Given the description of an element on the screen output the (x, y) to click on. 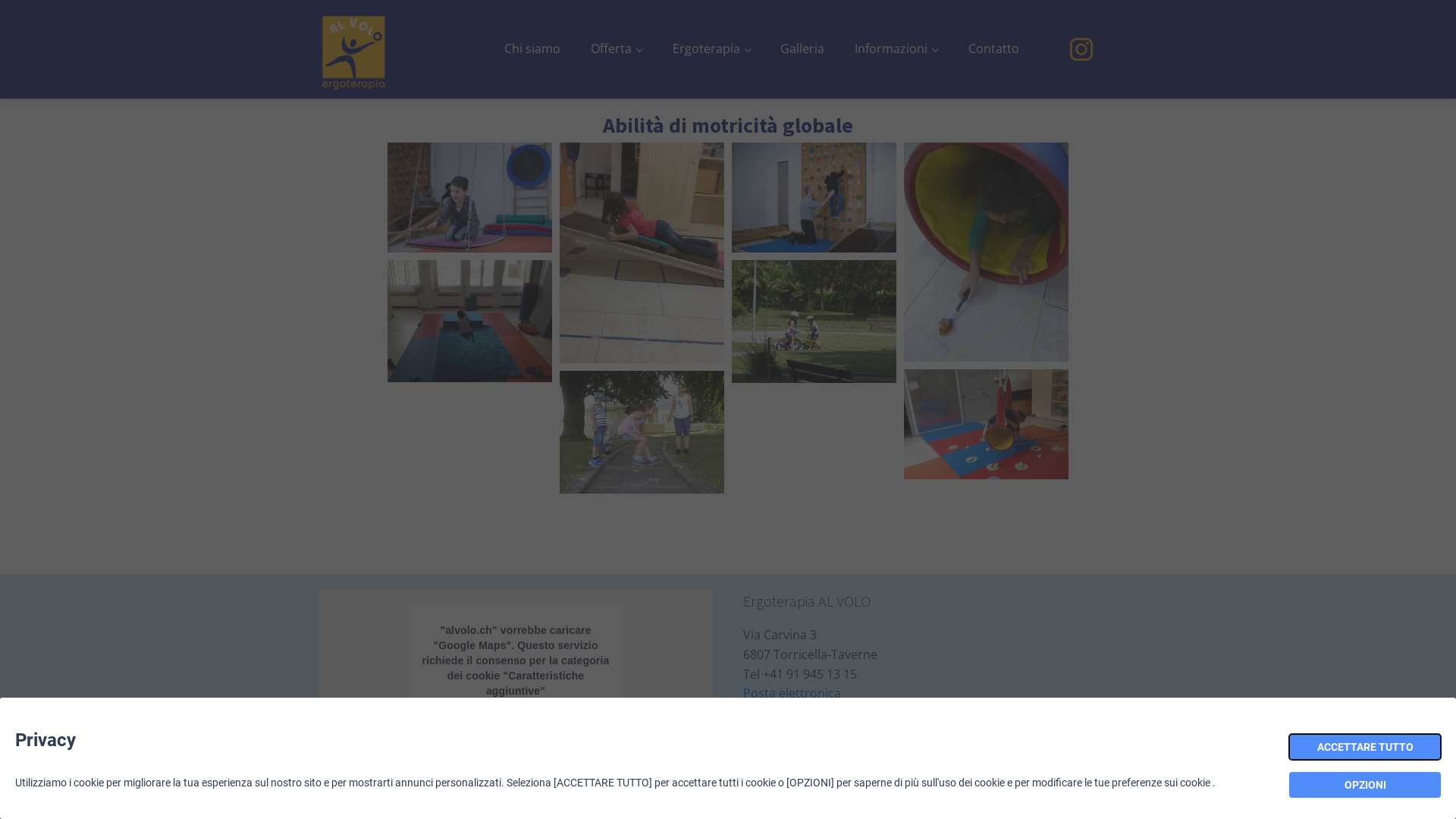
OPZIONI Element type: text (1364, 784)
Contatto Element type: text (993, 49)
Informazioni Element type: text (896, 49)
privacy policy Element type: text (781, 753)
Chi siamo Element type: text (532, 49)
Ergoterapia Element type: text (711, 49)
ACCETTARE TUTTO Element type: text (1364, 746)
Galleria Element type: text (802, 49)
Offerta Element type: text (616, 49)
Posta elettronica Element type: text (791, 692)
Next Digital Element type: text (603, 806)
